Given the description of an element on the screen output the (x, y) to click on. 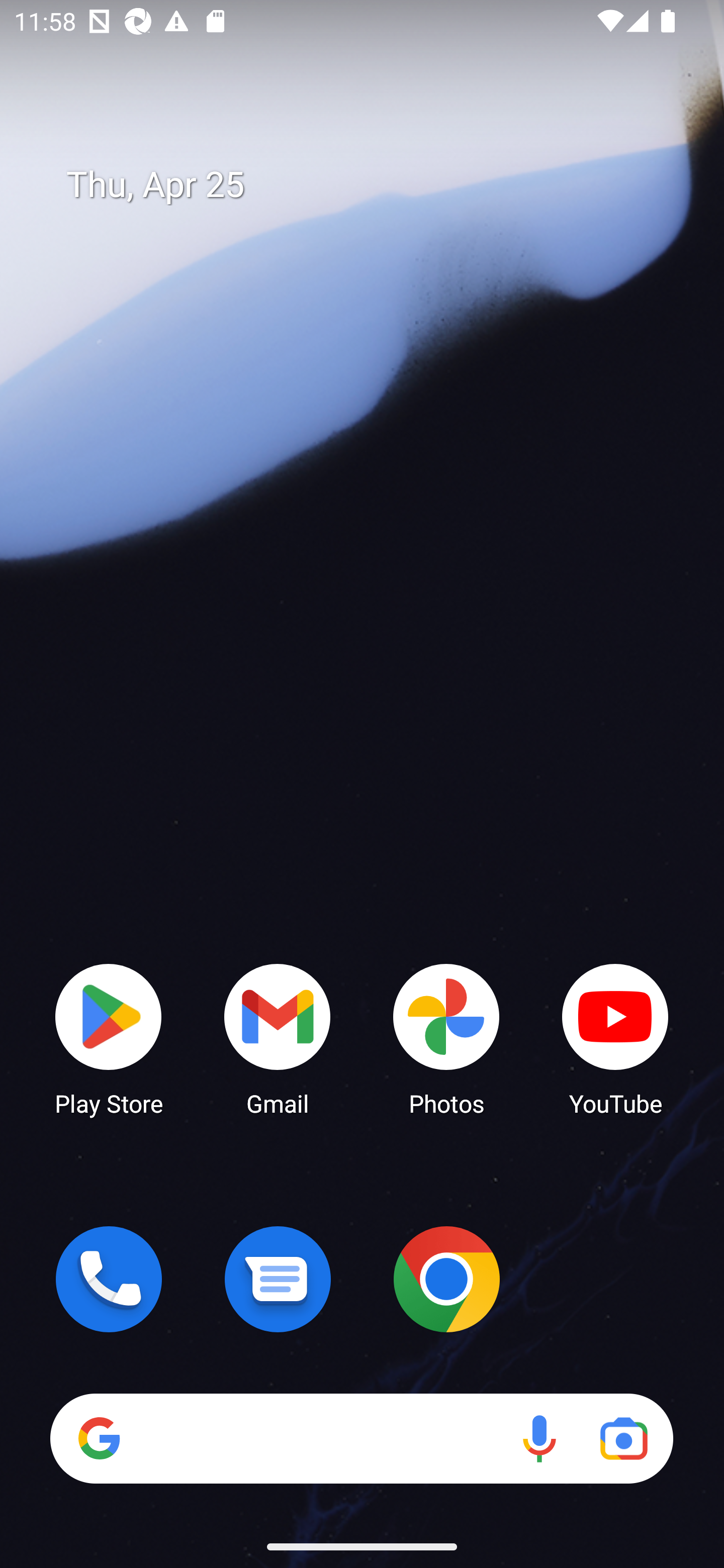
Thu, Apr 25 (375, 184)
Play Store (108, 1038)
Gmail (277, 1038)
Photos (445, 1038)
YouTube (615, 1038)
Phone (108, 1279)
Messages (277, 1279)
Chrome (446, 1279)
Search Voice search Google Lens (361, 1438)
Voice search (539, 1438)
Google Lens (623, 1438)
